Given the description of an element on the screen output the (x, y) to click on. 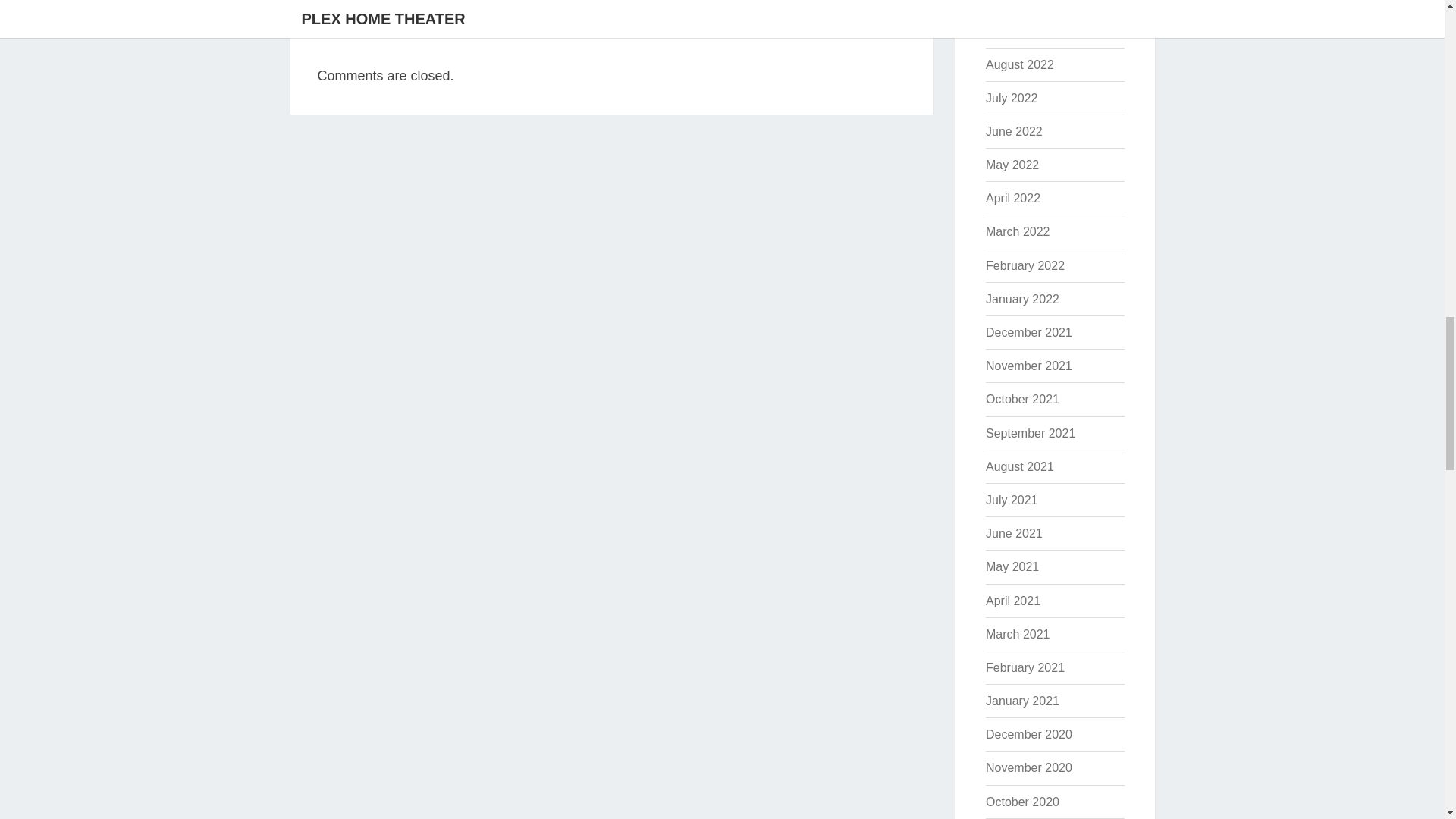
July 2022 (1011, 97)
June 2022 (1013, 131)
December 2021 (1028, 332)
October 2022 (1022, 2)
May 2022 (1012, 164)
February 2022 (1024, 265)
August 2022 (1019, 64)
September 2022 (1030, 30)
April 2022 (1013, 197)
January 2022 (1022, 298)
